Given the description of an element on the screen output the (x, y) to click on. 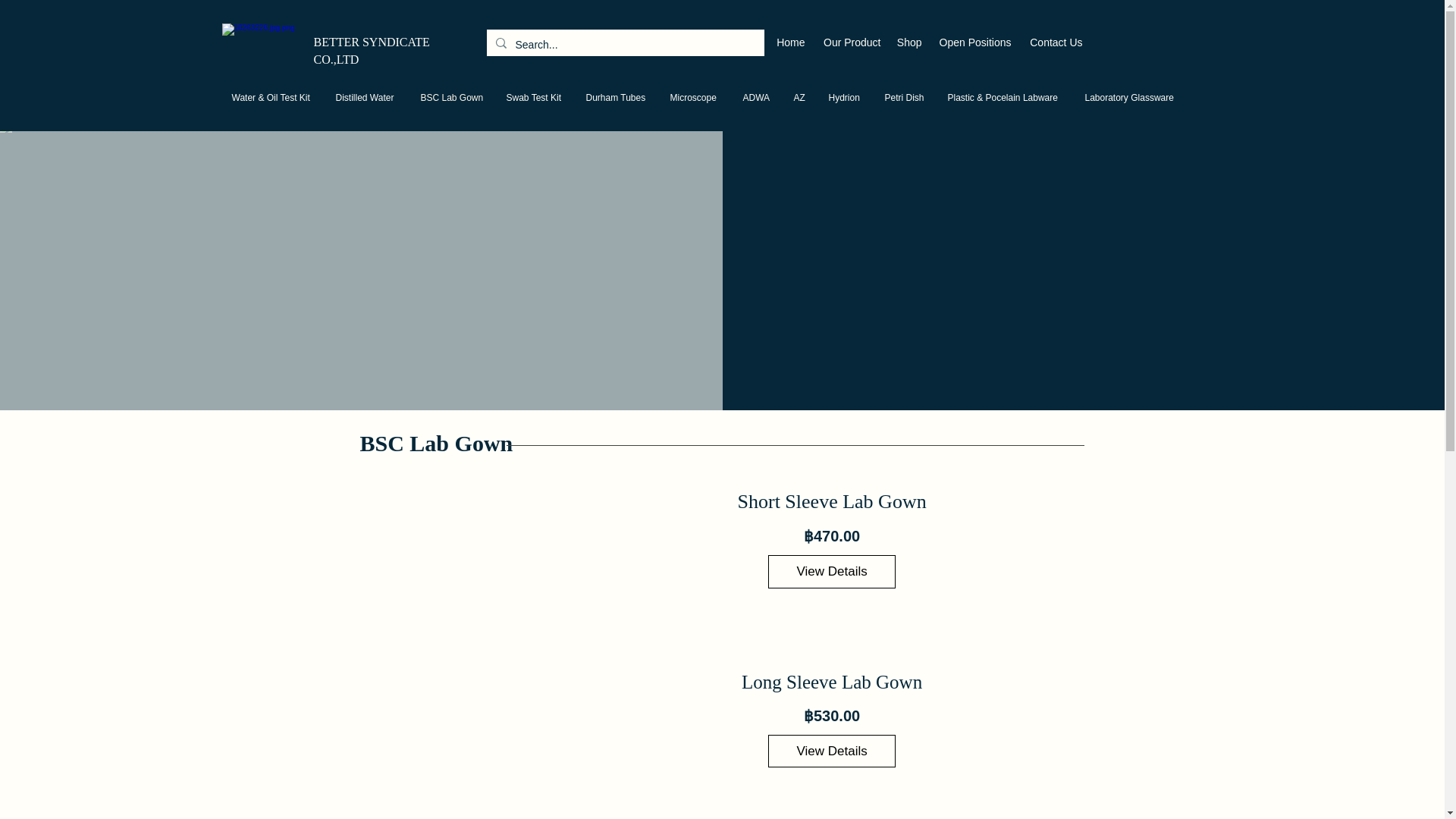
Laboratory Glassware (1131, 97)
Our Product (850, 42)
Petri Dish (904, 97)
Swab Test Kit (534, 97)
BSC Lab Gown (452, 97)
Microscope (694, 97)
Hydrion (844, 97)
Contact Us (1054, 42)
BETTER SYNDICATE CO.,LTD (371, 51)
View Details (831, 571)
